Given the description of an element on the screen output the (x, y) to click on. 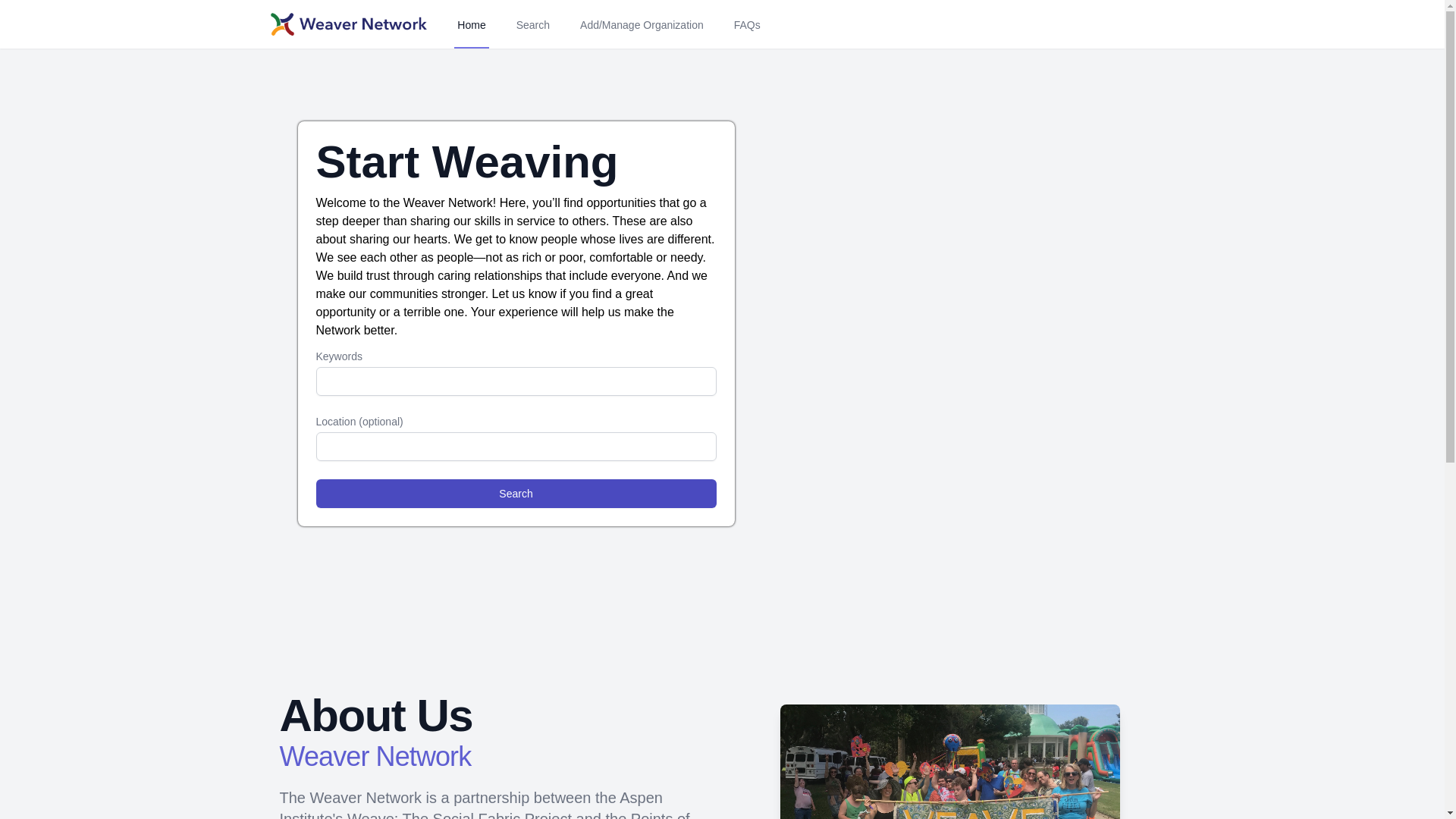
Search (515, 493)
